Given the description of an element on the screen output the (x, y) to click on. 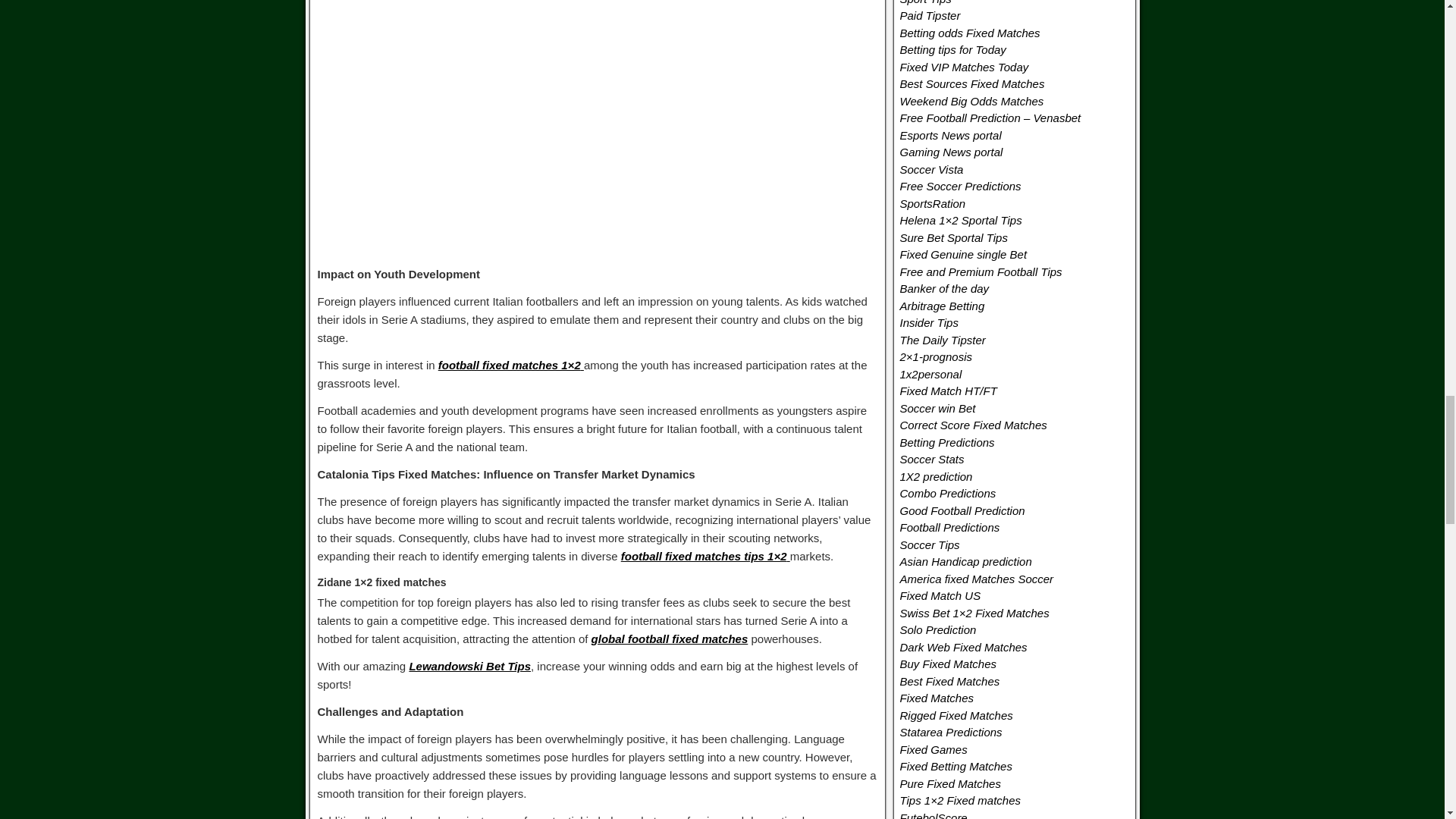
global football fixed matches (669, 638)
Catalonia Tips Fixed Matches (597, 124)
Lewandowski Bet Tips (470, 666)
